Given the description of an element on the screen output the (x, y) to click on. 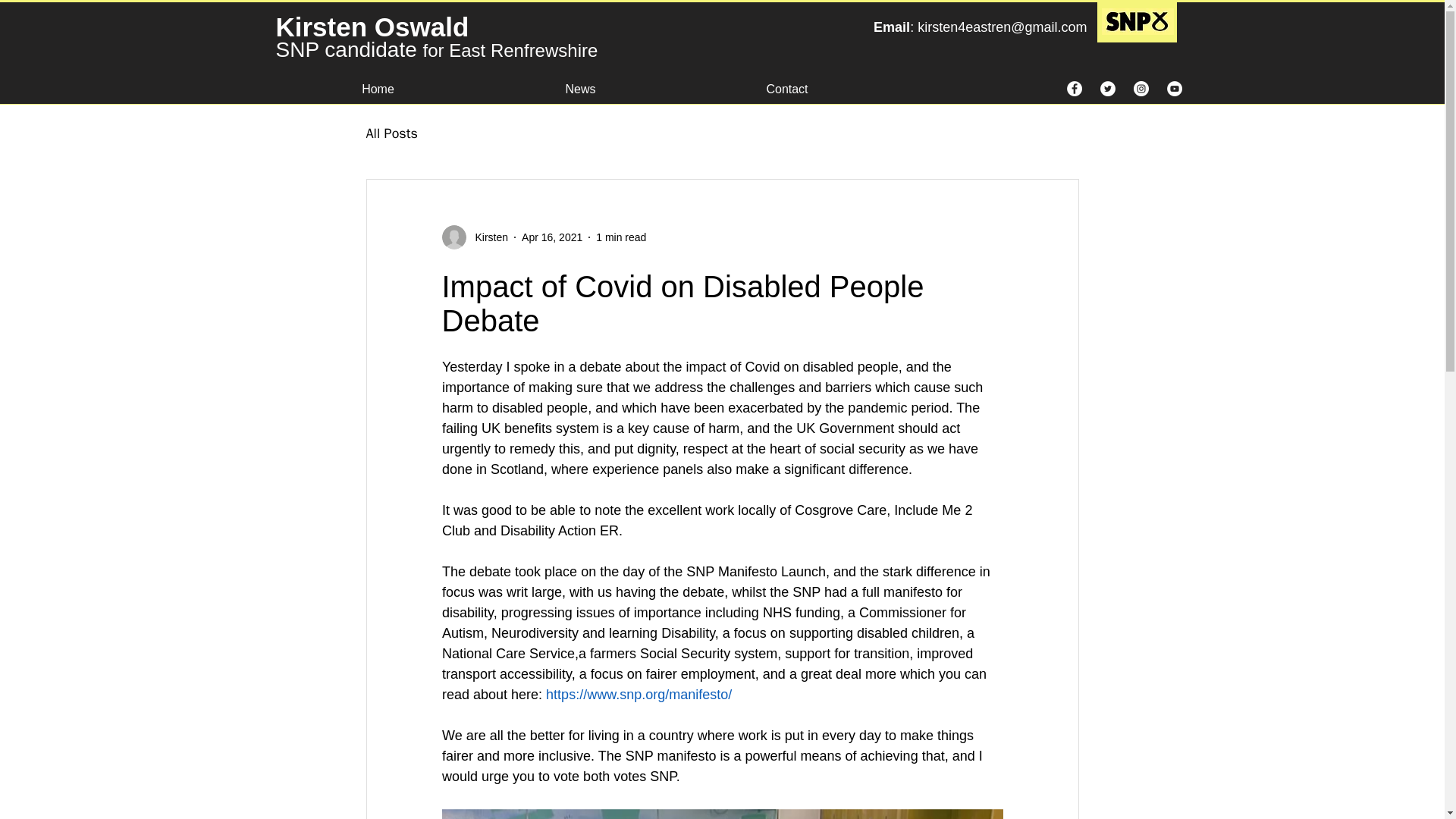
Contact (787, 81)
News (580, 81)
1 min read (620, 236)
Kirsten (486, 236)
All Posts (390, 133)
Apr 16, 2021 (551, 236)
Home (378, 81)
